Given the description of an element on the screen output the (x, y) to click on. 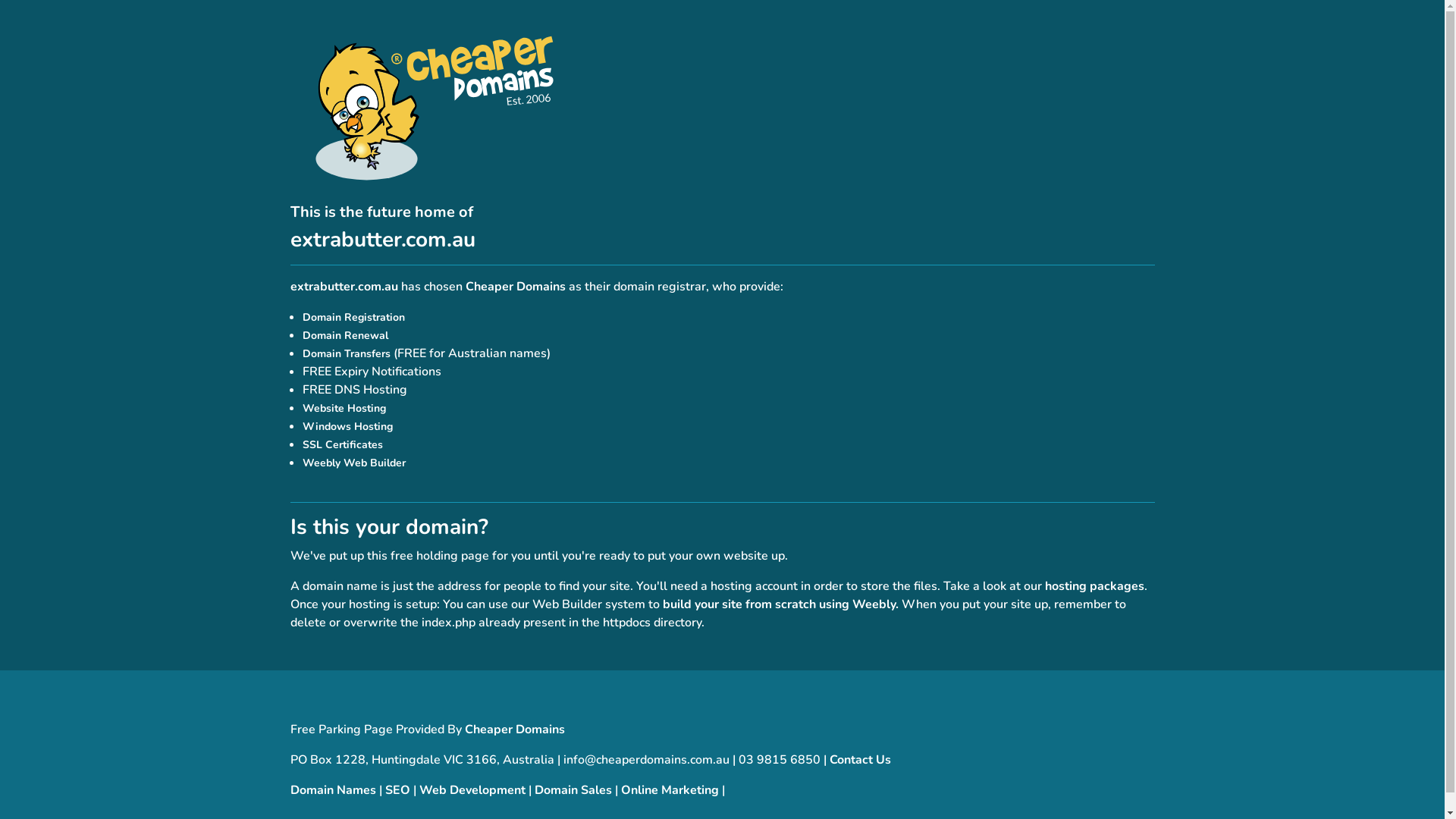
Domain Transfers Element type: text (345, 353)
Website Hosting Element type: text (343, 408)
Contact Us Element type: text (860, 759)
Windows Hosting Element type: text (346, 426)
Online Marketing Element type: text (669, 789)
Web Development Element type: text (471, 789)
Weebly Web Builder Element type: text (352, 462)
hosting packages Element type: text (1094, 585)
Cheaper Domains Element type: text (514, 729)
Cheaper Domains Element type: text (515, 286)
Domain Renewal Element type: text (344, 335)
build your site from scratch using Weebly. Element type: text (780, 604)
Domain Names Element type: text (332, 789)
Domain Registration Element type: text (352, 317)
Domain Sales Element type: text (572, 789)
SSL Certificates Element type: text (341, 444)
SEO Element type: text (397, 789)
